Given the description of an element on the screen output the (x, y) to click on. 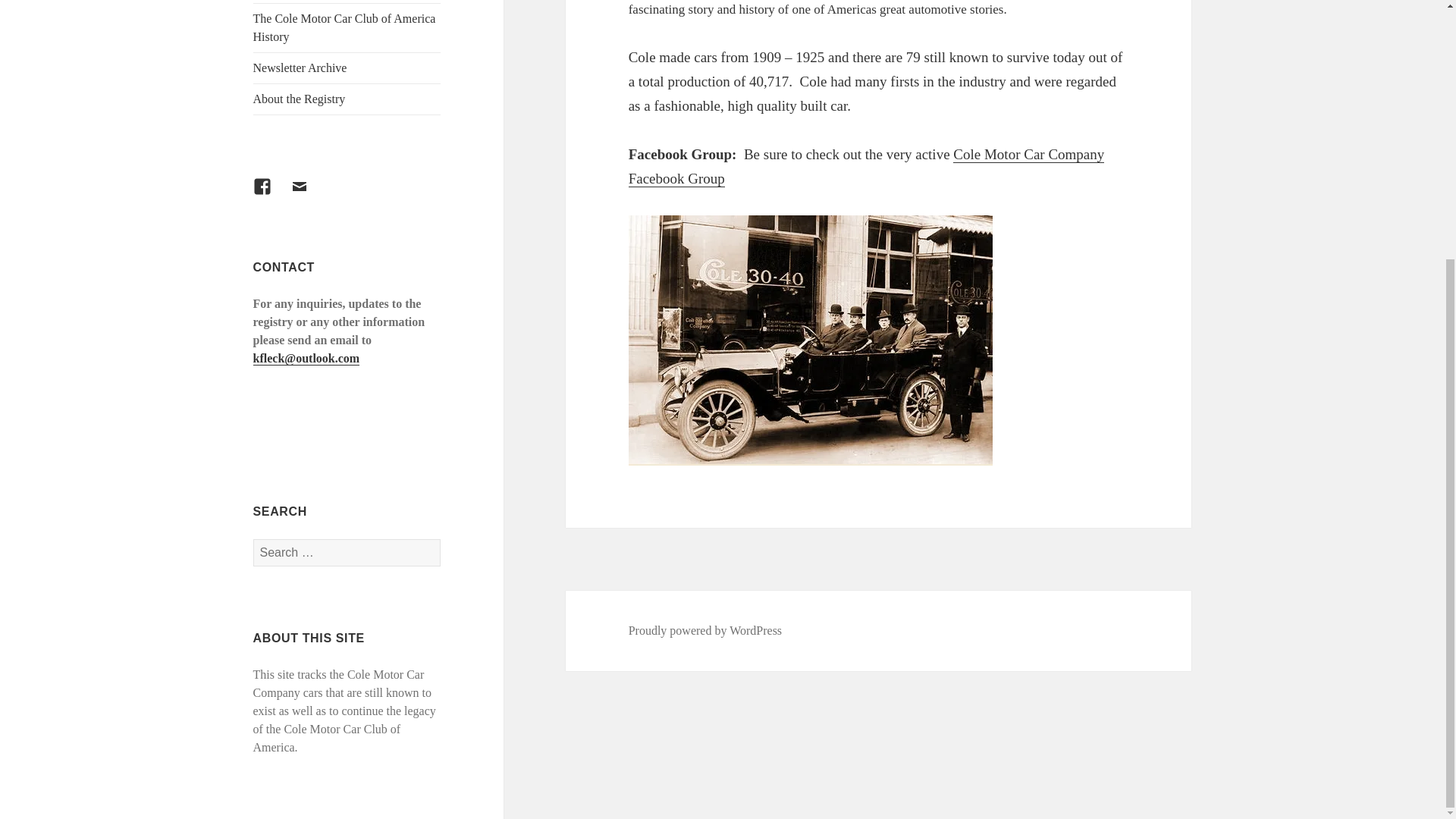
Email (307, 195)
Newsletter Archive (347, 68)
Cole Motor Car Company Facebook Group (866, 166)
Cole High Wheeler (347, 1)
Facebook (271, 195)
Proudly powered by WordPress (704, 631)
About the Registry (347, 99)
The Cole Motor Car Club of America History (347, 28)
